Given the description of an element on the screen output the (x, y) to click on. 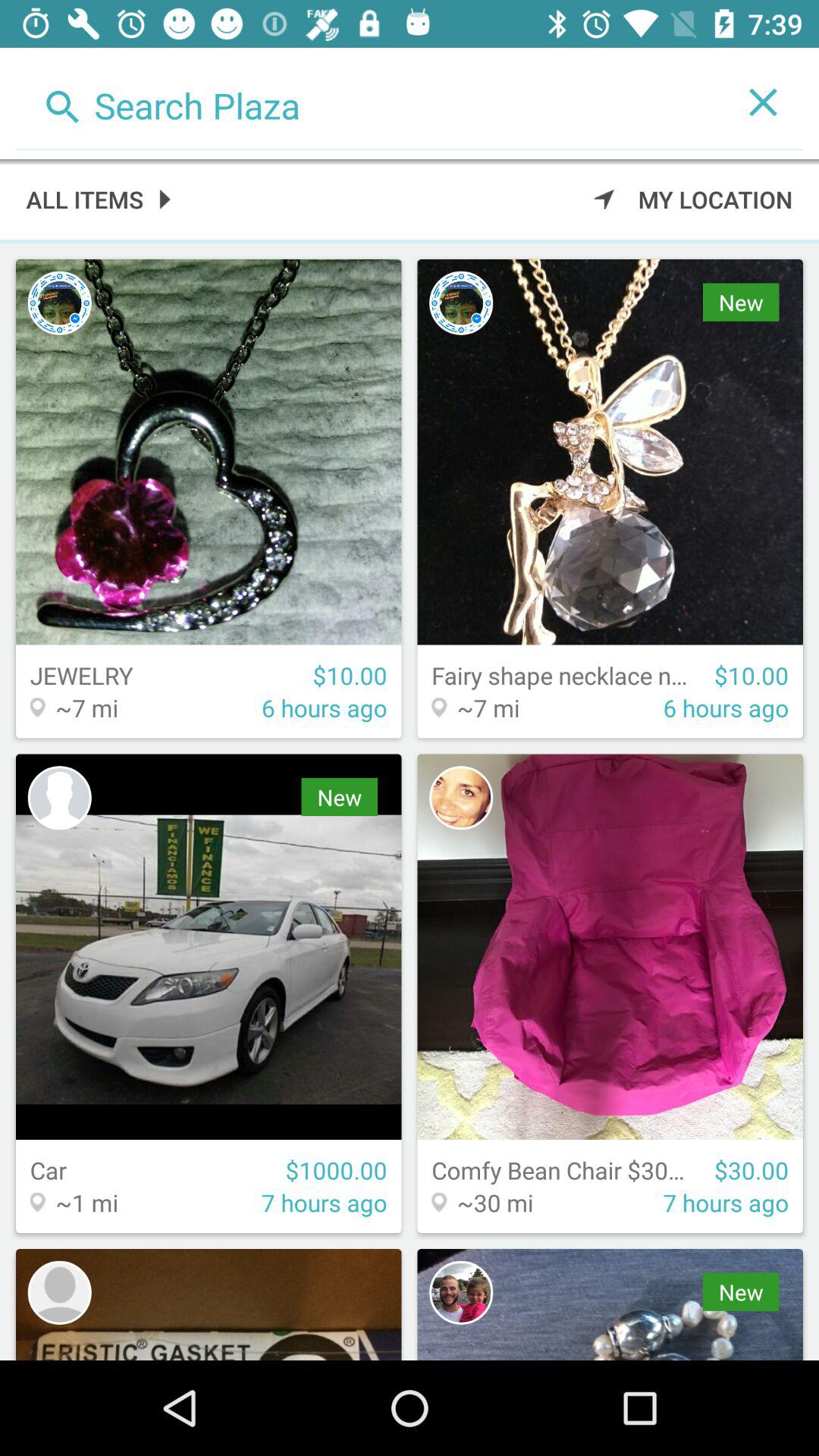
search plaza (369, 102)
